Given the description of an element on the screen output the (x, y) to click on. 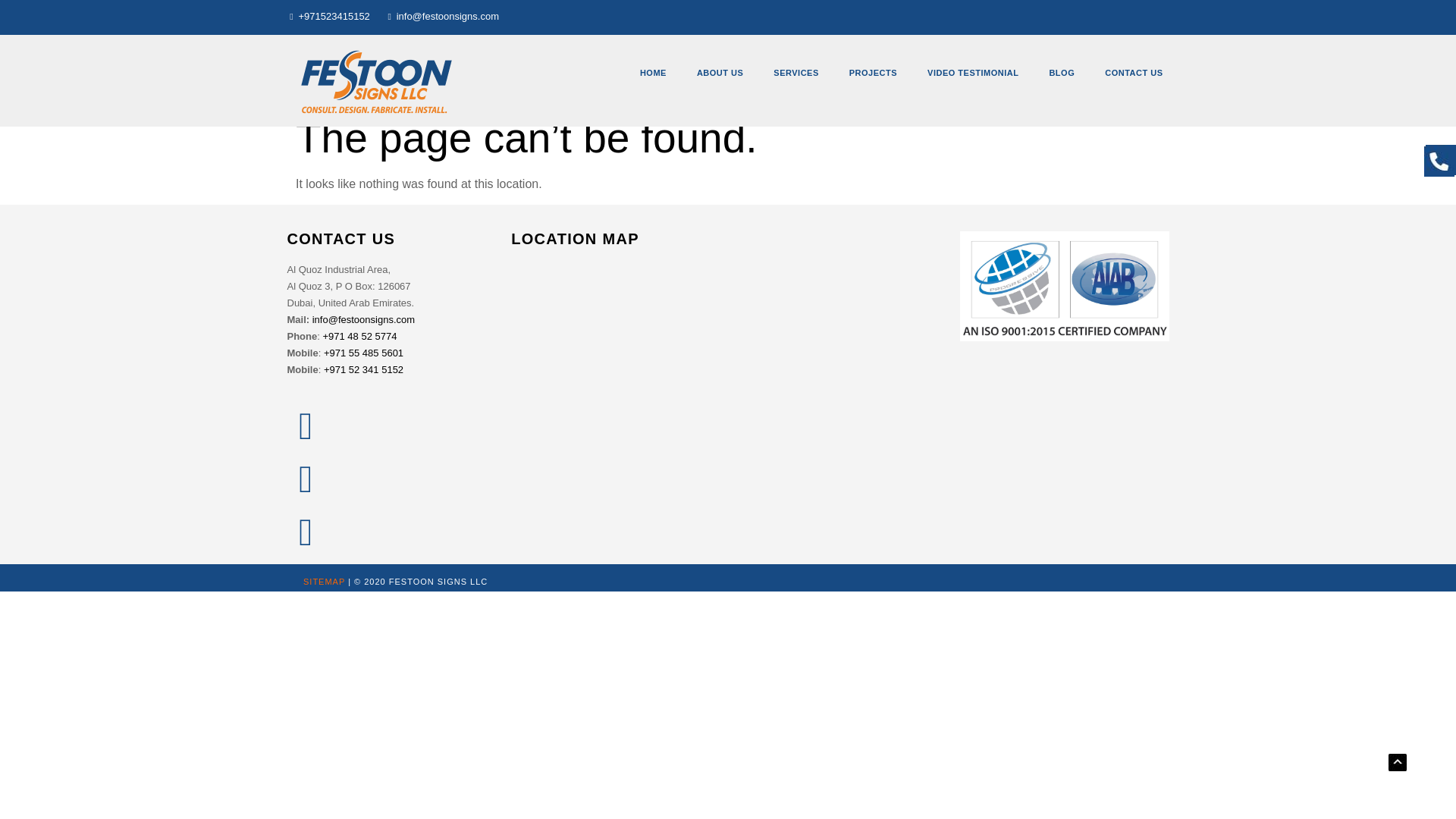
BLOG (1061, 73)
VIDEO TESTIMONIAL (972, 73)
SITEMAP (323, 581)
SERVICES (795, 73)
CONTACT US (1133, 73)
ABOUT US (719, 73)
HOME (652, 73)
PROJECTS (873, 73)
